Given the description of an element on the screen output the (x, y) to click on. 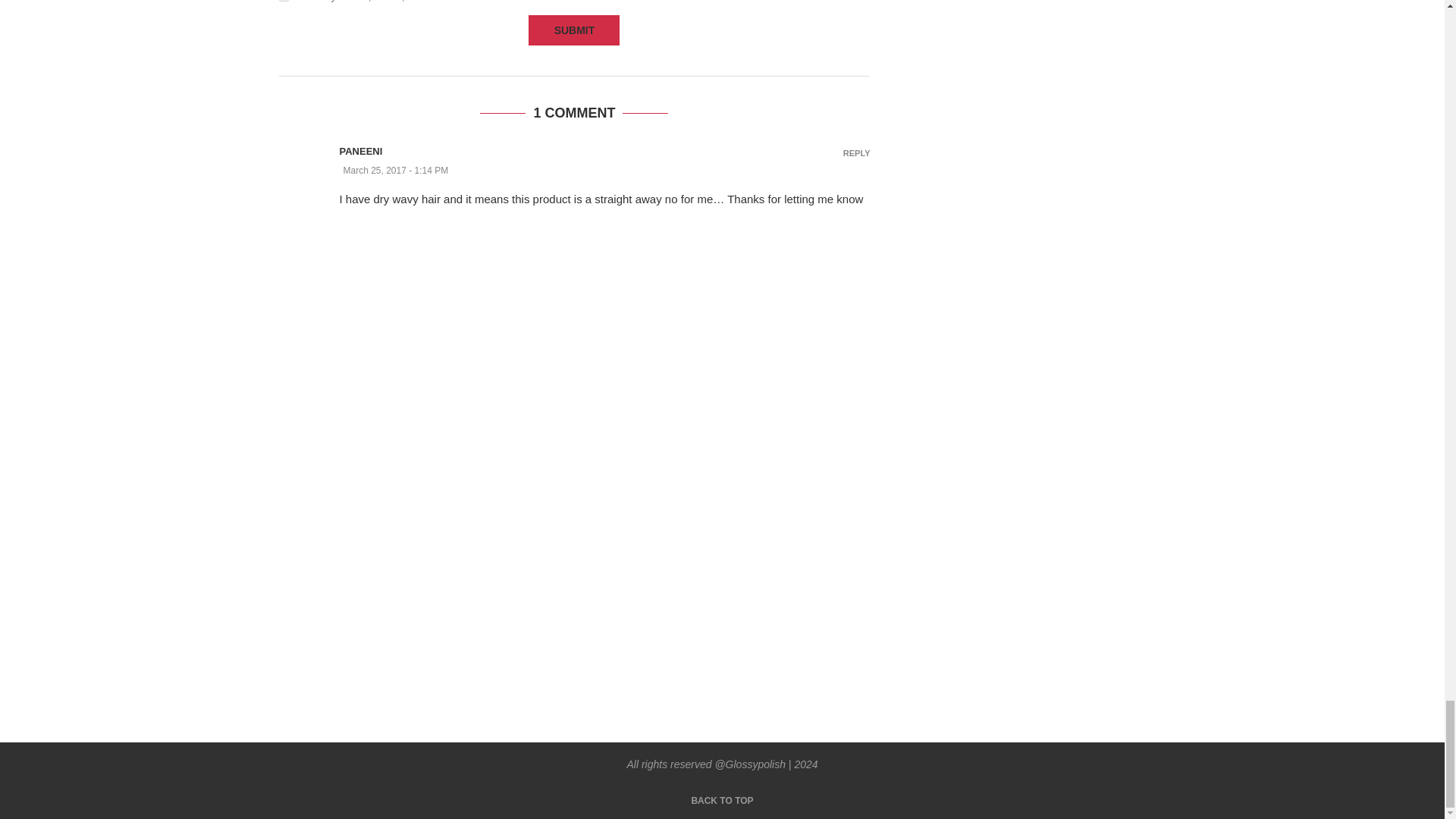
Submit (574, 30)
